Given the description of an element on the screen output the (x, y) to click on. 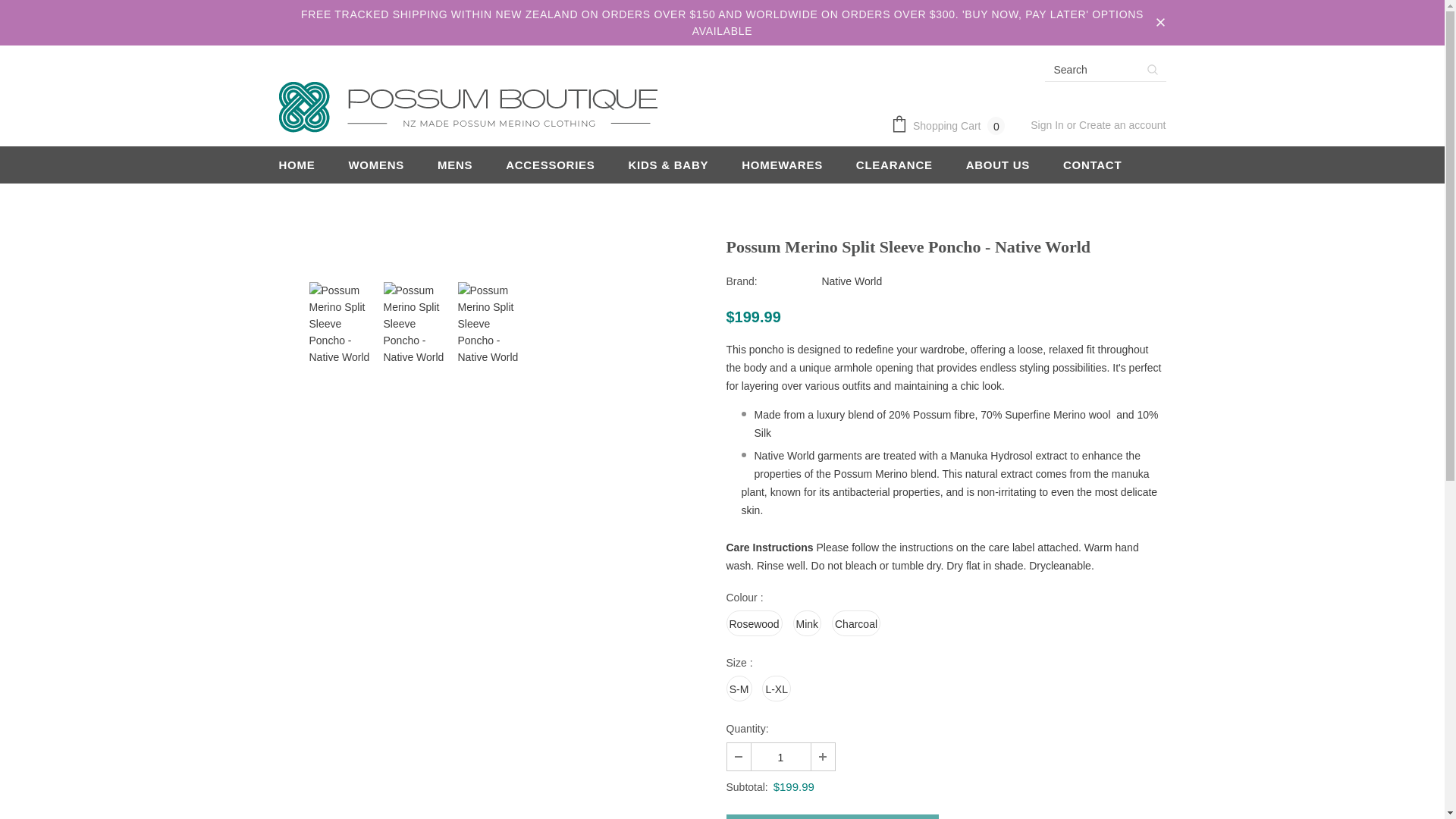
Native World (851, 281)
1 (780, 756)
HOMEWARES (781, 164)
Cart (951, 126)
MENS (454, 164)
close (1160, 22)
Shopping Cart 0 (951, 126)
HOME (297, 164)
Native World (851, 281)
CLEARANCE (894, 164)
